Given the description of an element on the screen output the (x, y) to click on. 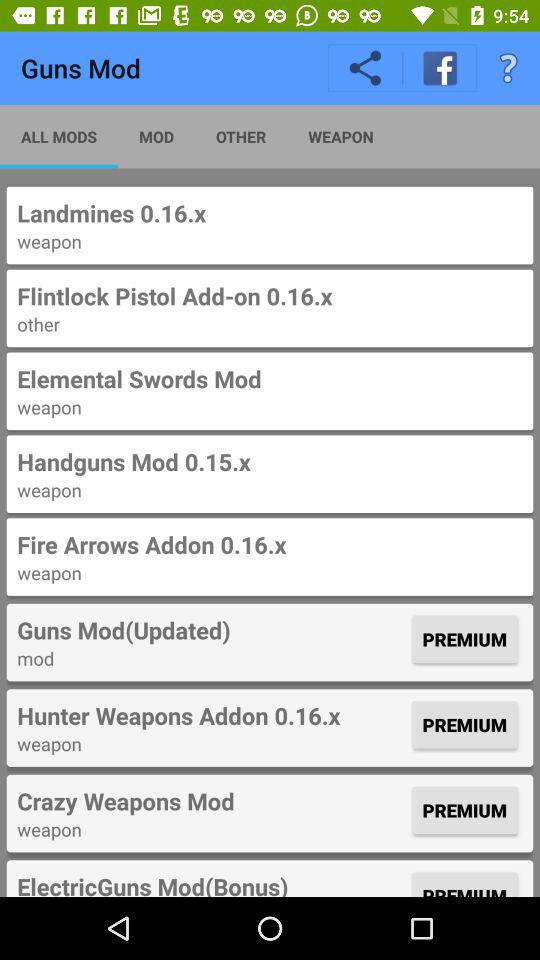
press the item above weapon icon (211, 801)
